Given the description of an element on the screen output the (x, y) to click on. 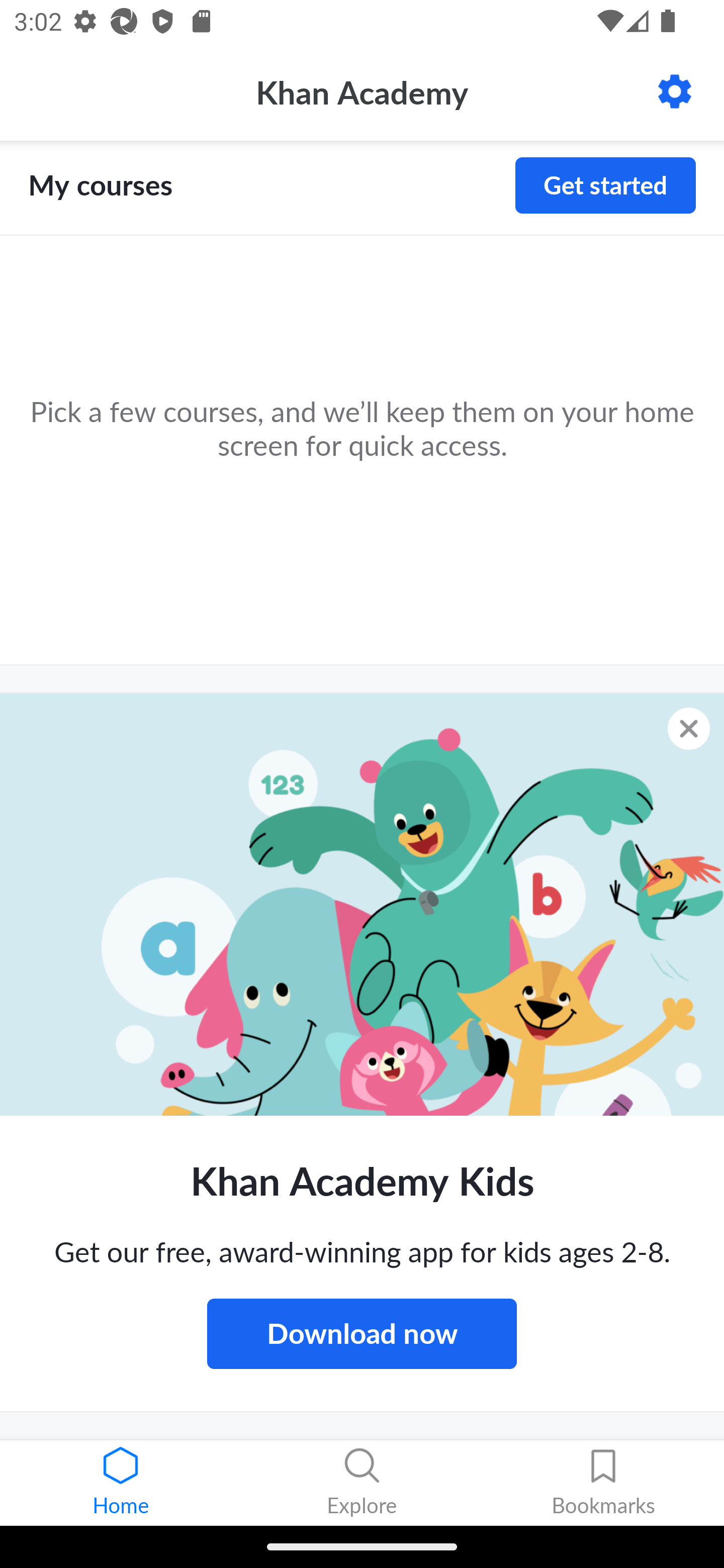
Settings (674, 91)
Get started (605, 184)
Dismiss (688, 728)
Download now (361, 1333)
Home (120, 1482)
Explore (361, 1482)
Bookmarks (603, 1482)
